Given the description of an element on the screen output the (x, y) to click on. 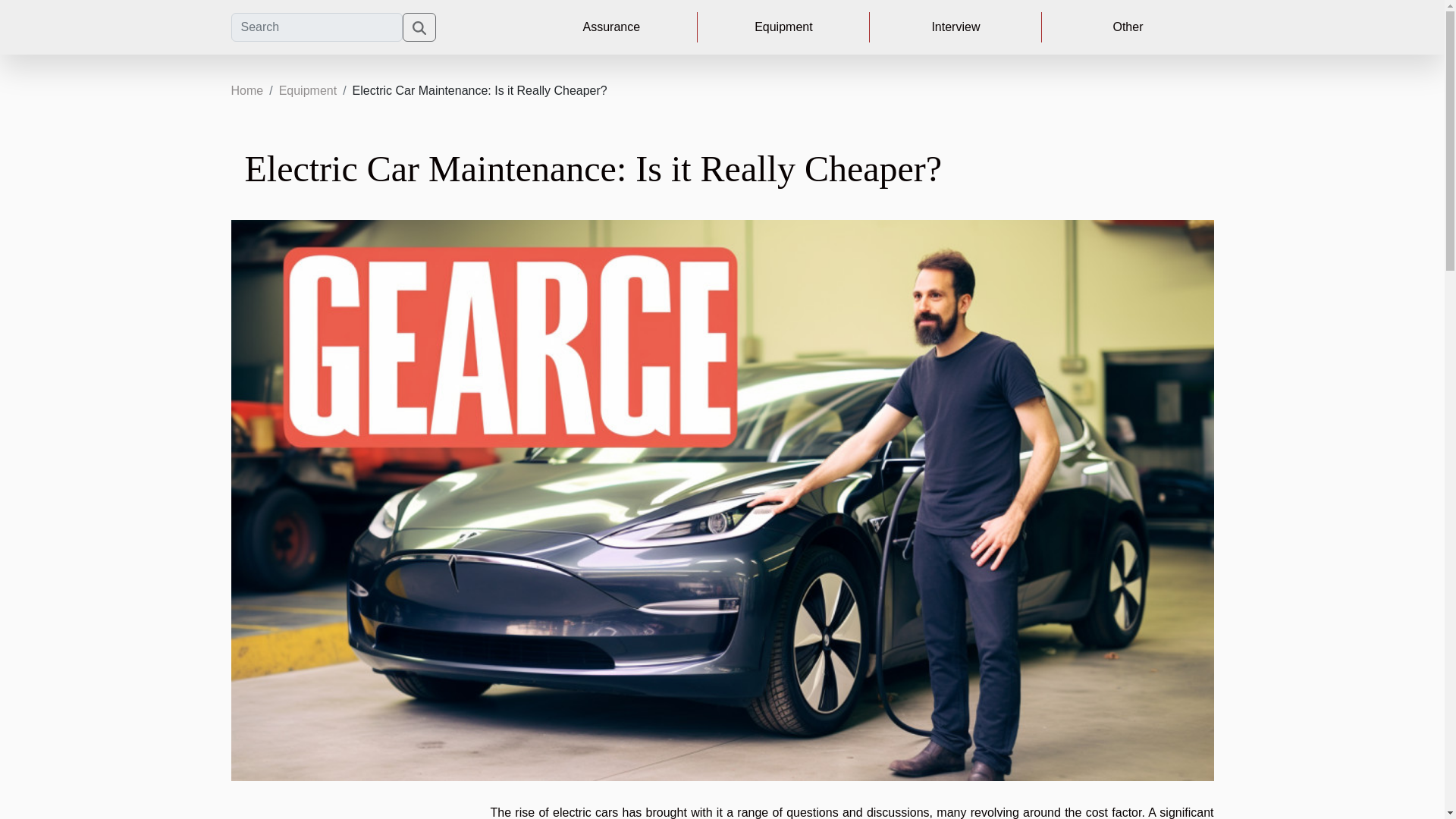
Equipment (308, 90)
Home (246, 90)
Assurance (610, 27)
Interview (955, 27)
Equipment (783, 27)
Equipment (308, 90)
Other (1127, 27)
